Given the description of an element on the screen output the (x, y) to click on. 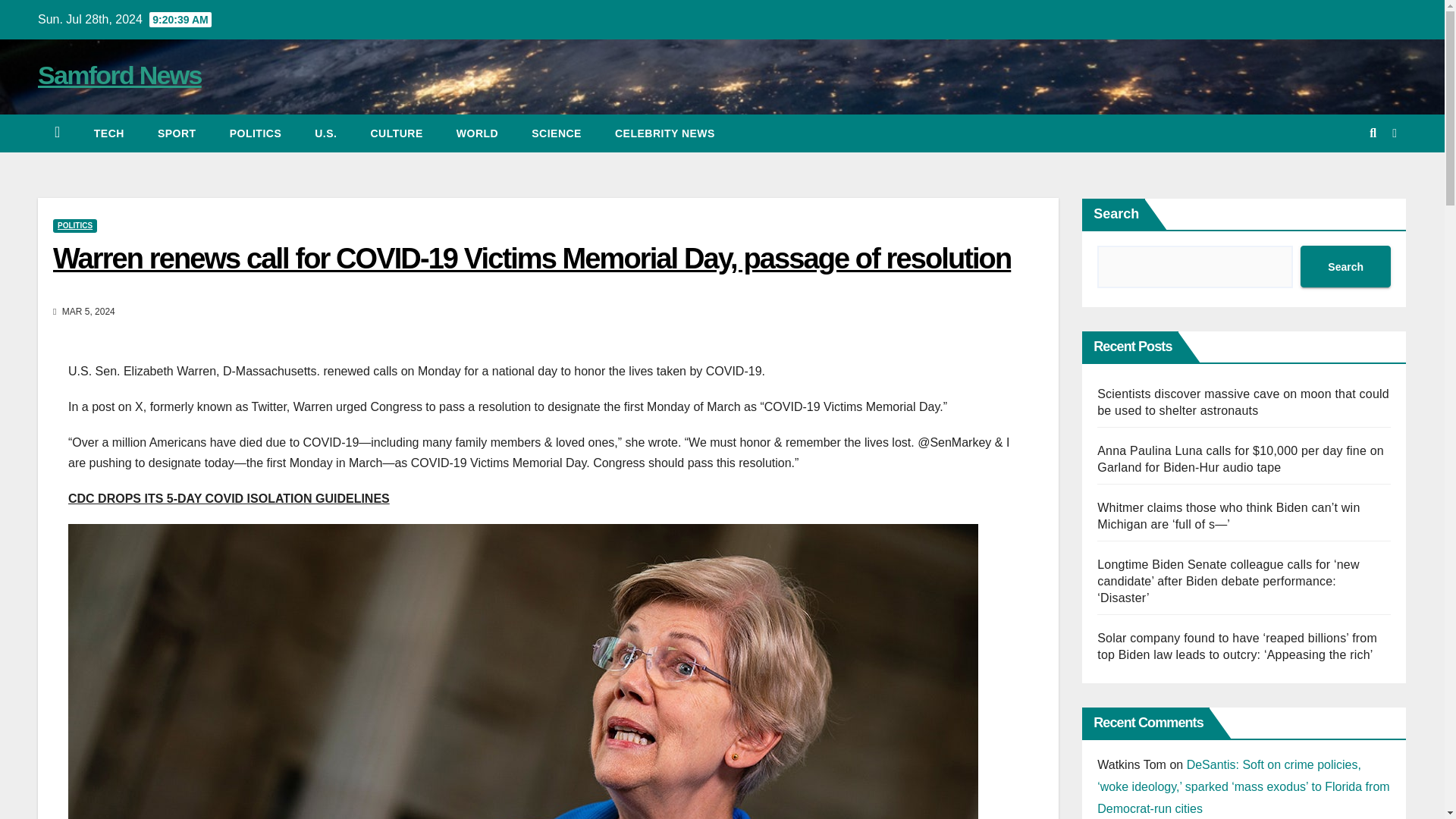
TECH (109, 133)
POLITICS (74, 225)
Search (1345, 266)
Tech (109, 133)
Science (556, 133)
CULTURE (396, 133)
World (477, 133)
Politics (255, 133)
SCIENCE (556, 133)
U.S. (325, 133)
Sport (176, 133)
U.S. (325, 133)
Celebrity News (665, 133)
Samford News (119, 74)
